Given the description of an element on the screen output the (x, y) to click on. 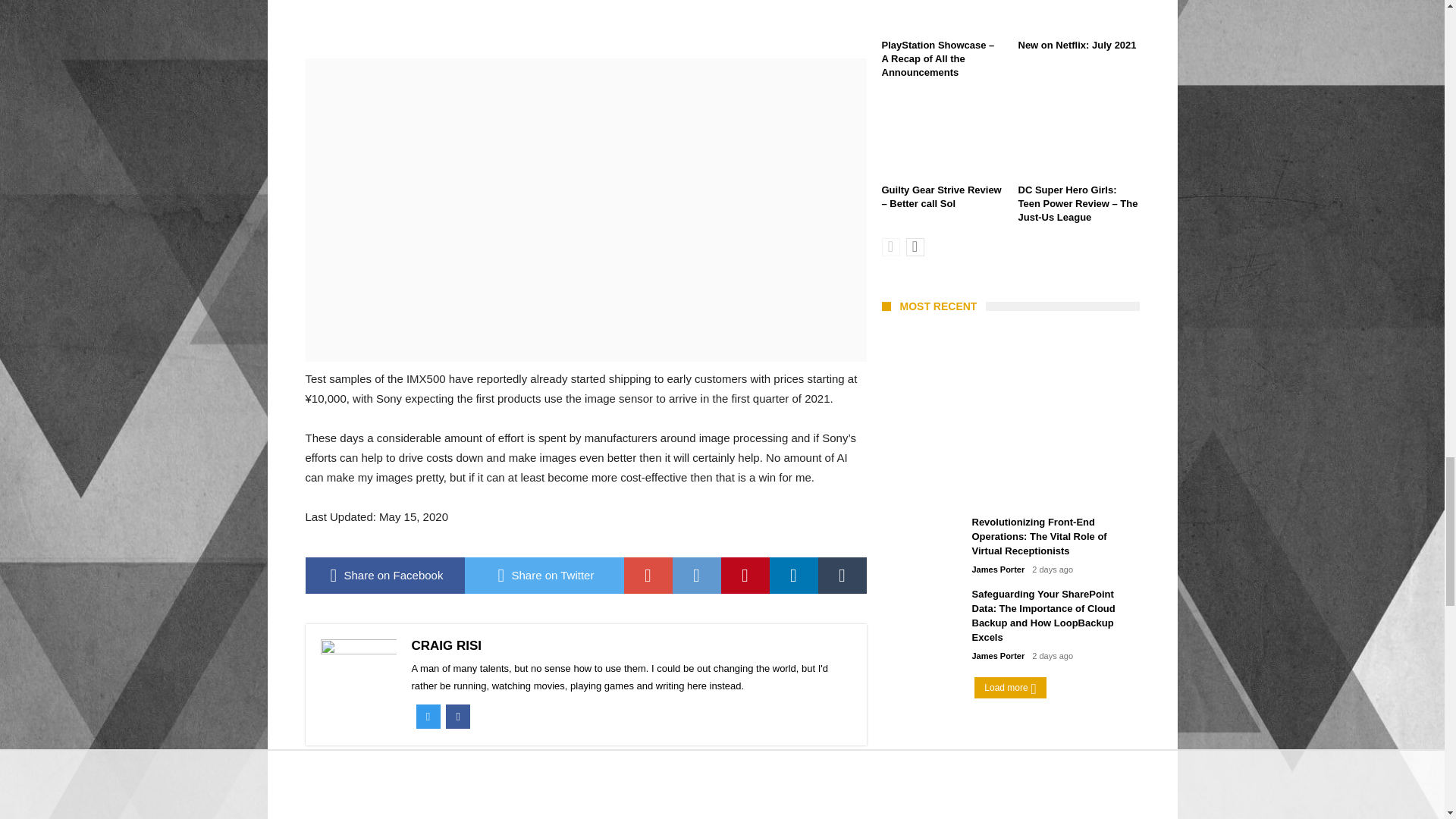
Share on Twitter (543, 575)
Share on Reddit (695, 575)
Share on Facebook (384, 575)
